Given the description of an element on the screen output the (x, y) to click on. 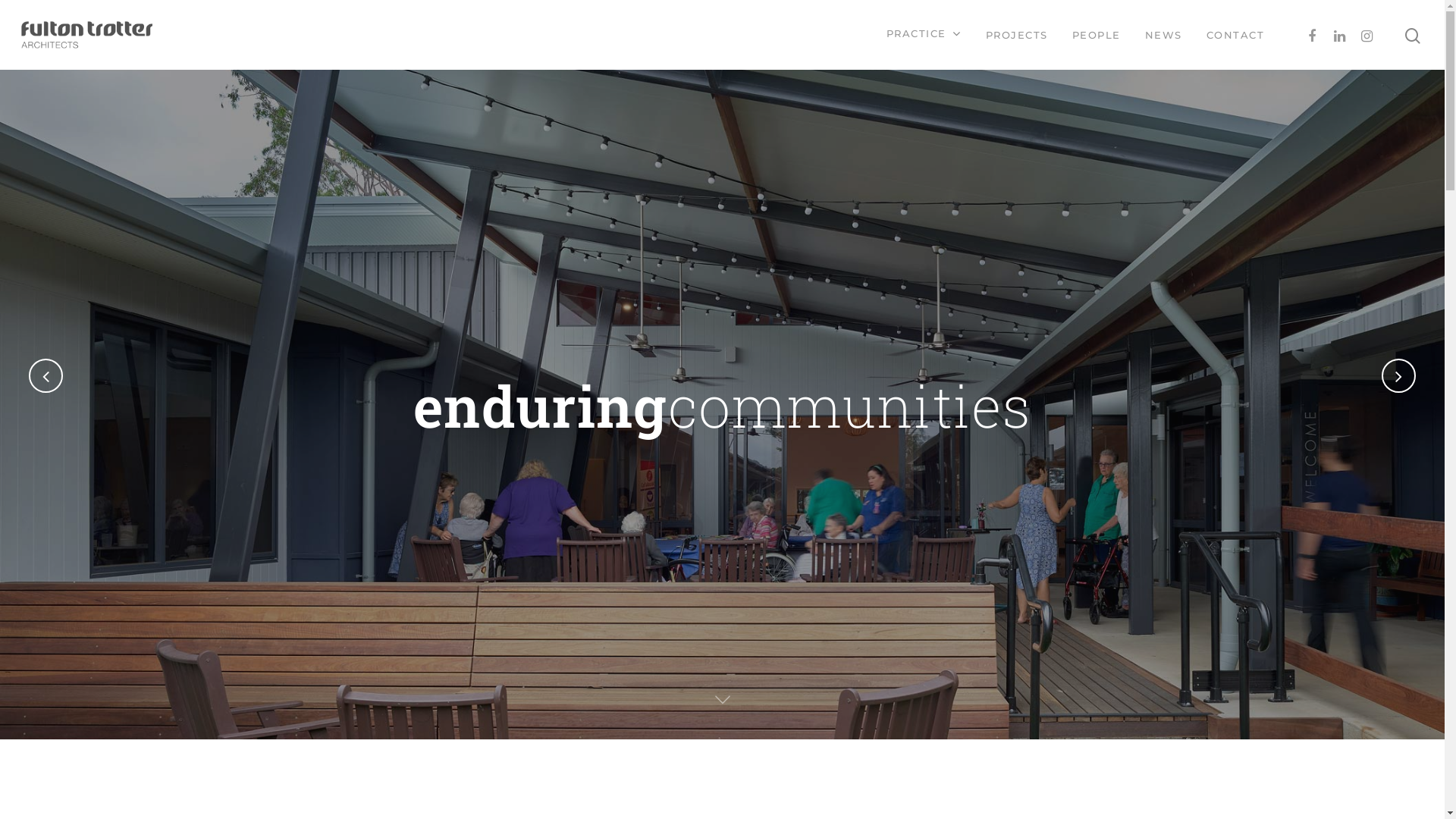
PEOPLE Element type: text (1096, 35)
NEWS Element type: text (1163, 35)
PROJECTS Element type: text (1016, 35)
PRACTICE Element type: text (922, 34)
CONTACT Element type: text (1234, 35)
